Given the description of an element on the screen output the (x, y) to click on. 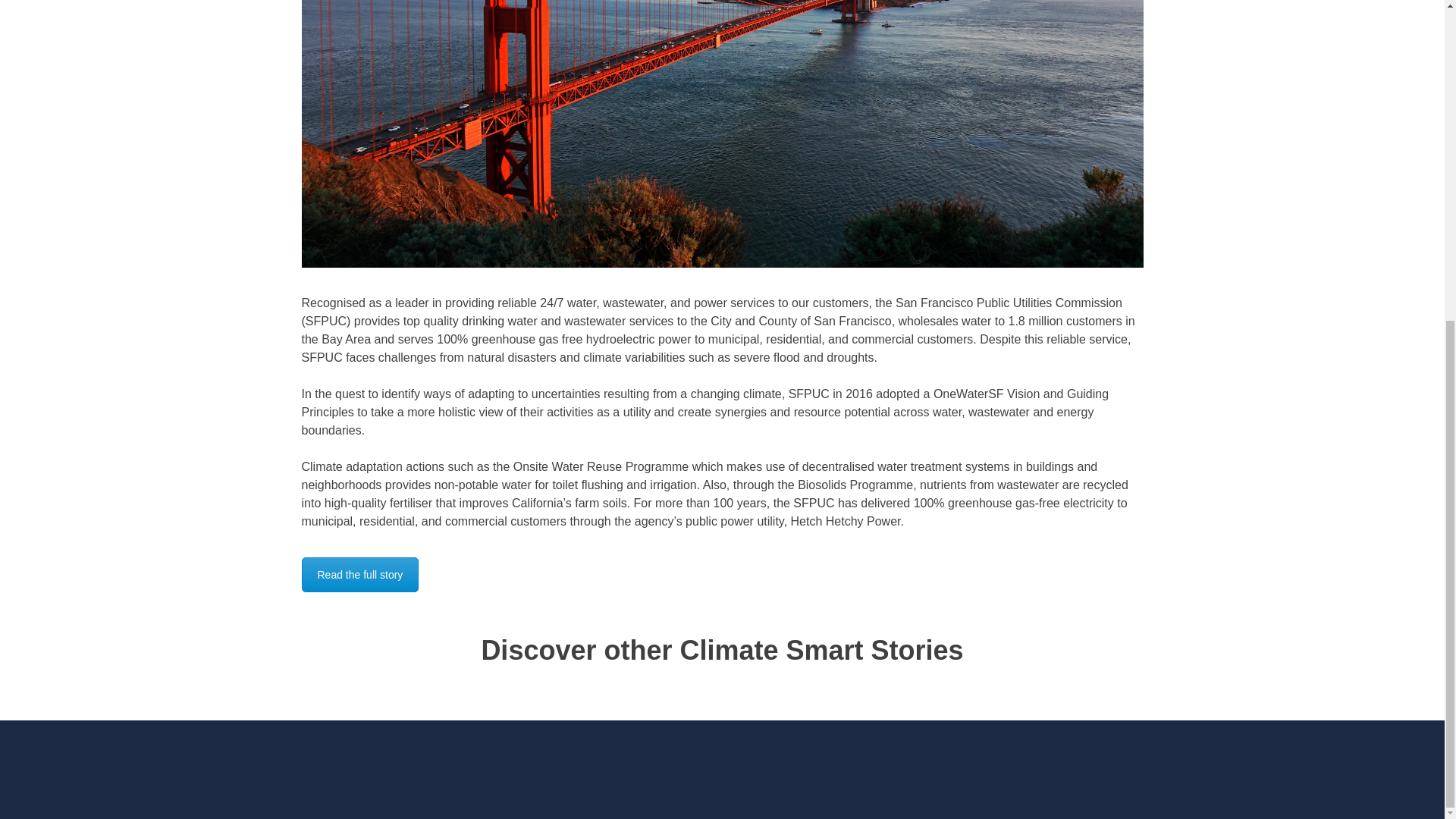
Read the full story (360, 574)
